Given the description of an element on the screen output the (x, y) to click on. 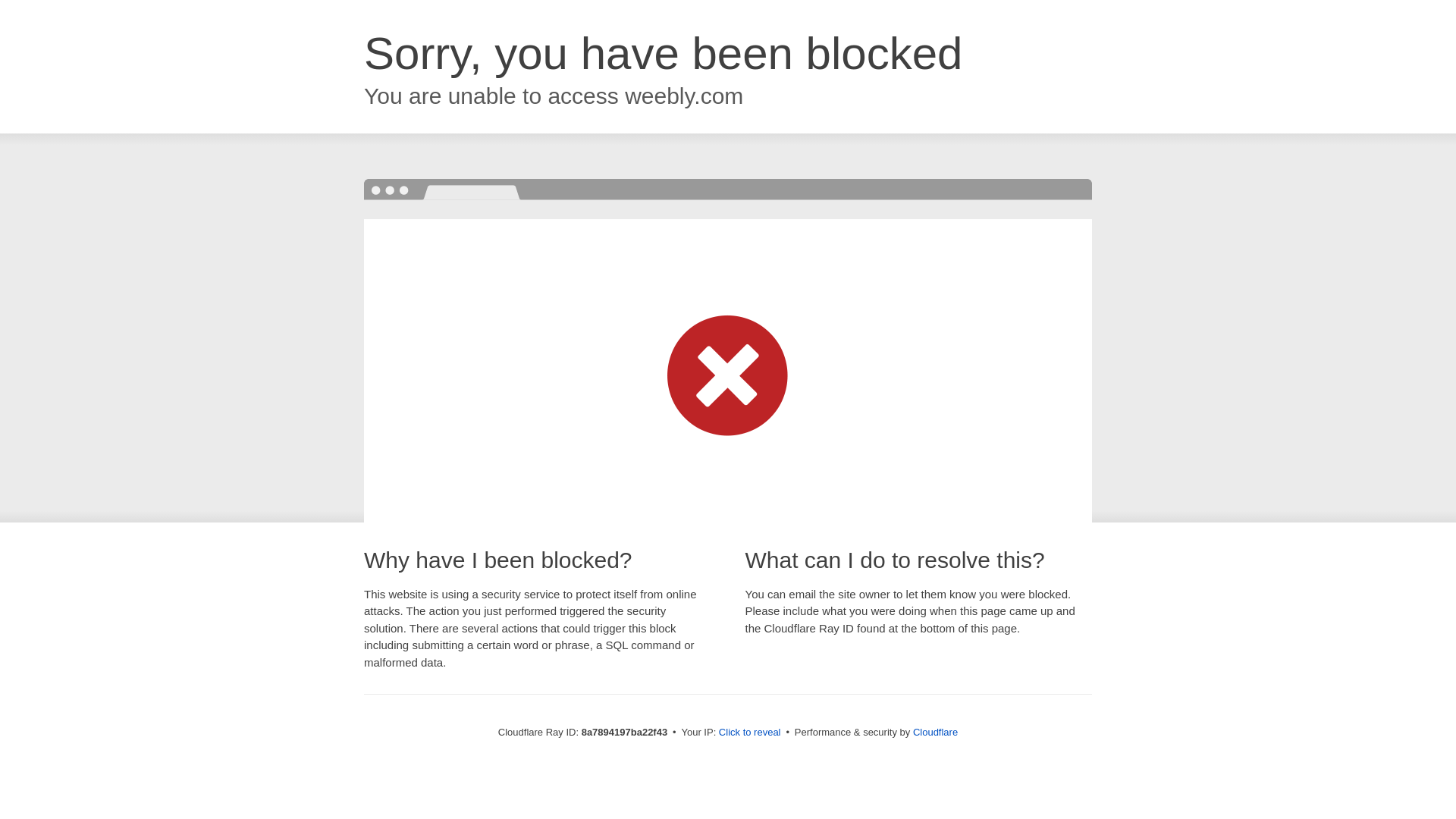
Cloudflare (935, 731)
Click to reveal (749, 732)
